Given the description of an element on the screen output the (x, y) to click on. 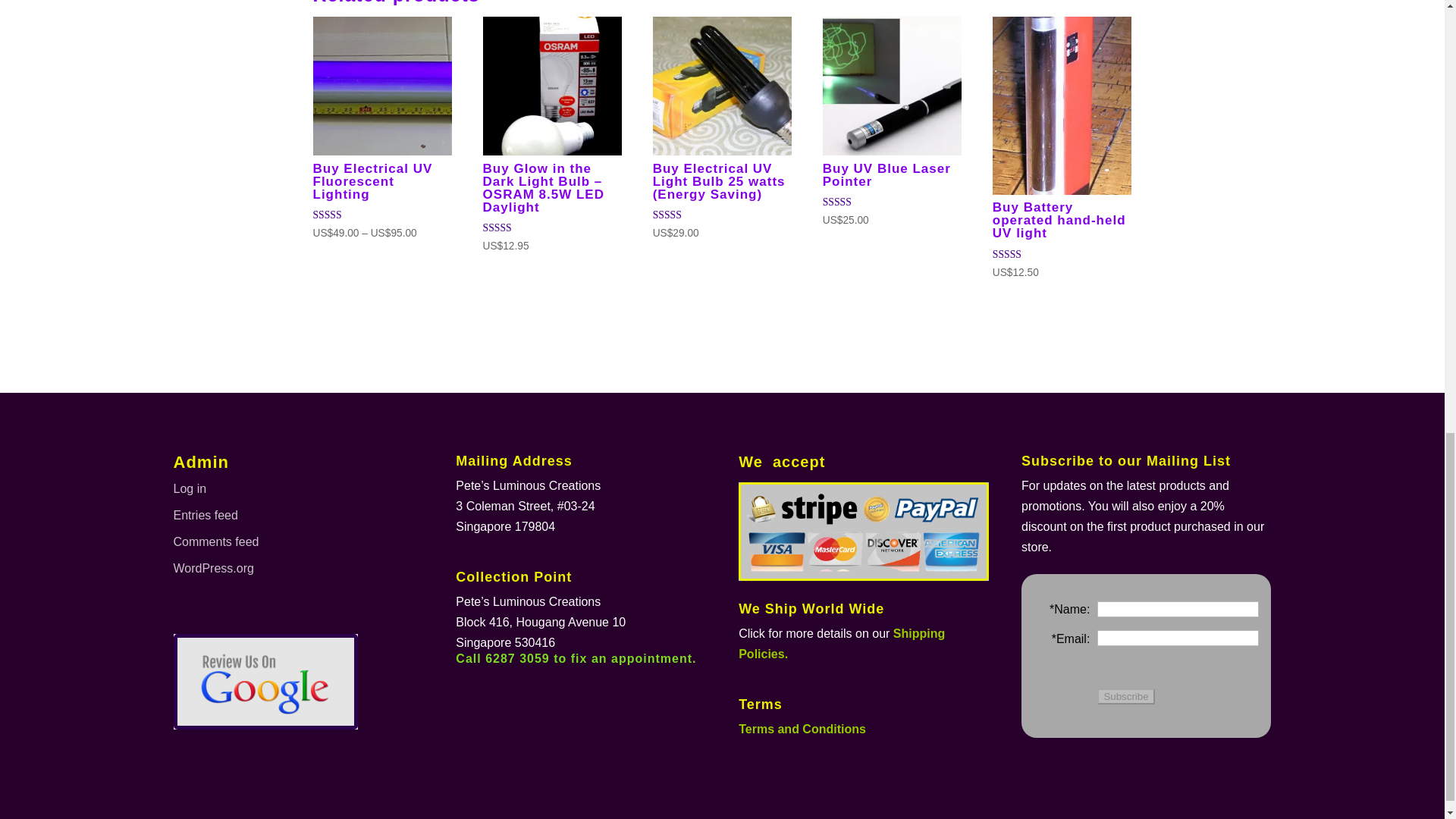
paymtnt-method (863, 531)
Review us on Google (266, 681)
Subscribe (1125, 696)
